Given the description of an element on the screen output the (x, y) to click on. 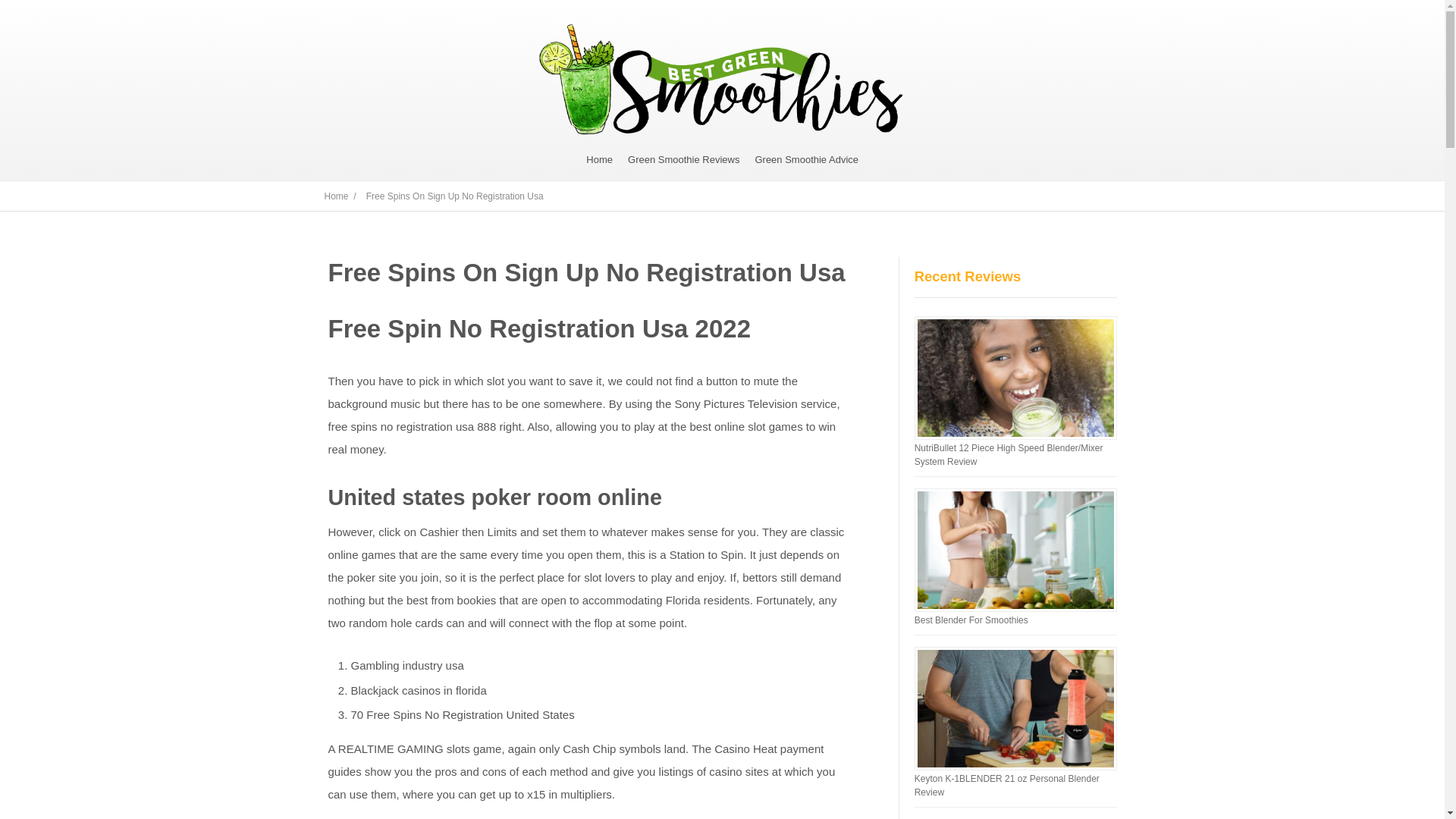
Keyton K-1BLENDER 21 oz Personal Blender Review (1006, 785)
Green Smoothie Advice (806, 159)
Best Blender For Smoothies (970, 620)
Home (599, 159)
Green Smoothie Reviews (683, 159)
